Given the description of an element on the screen output the (x, y) to click on. 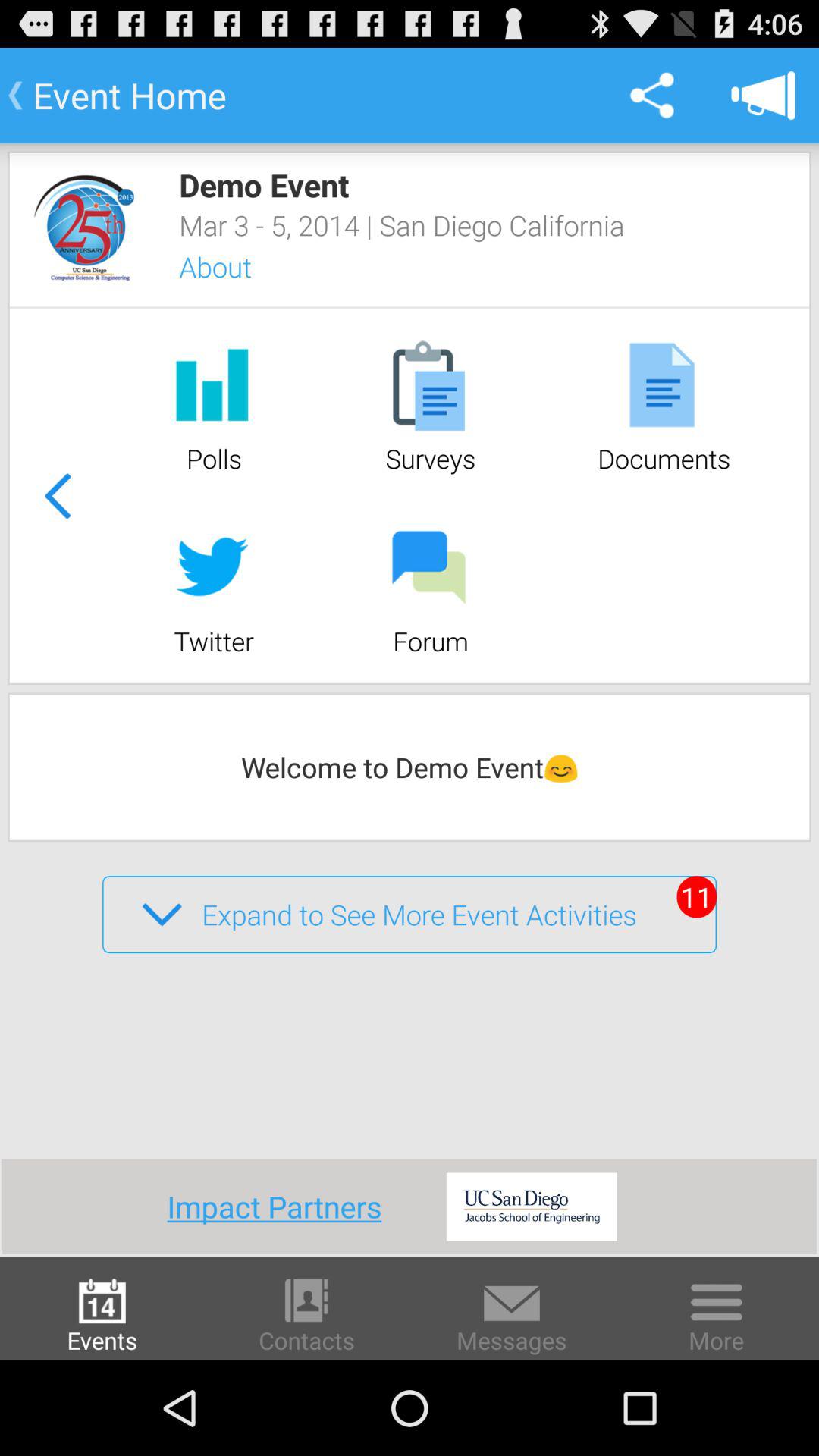
press icon below mar 3 5 (235, 267)
